Given the description of an element on the screen output the (x, y) to click on. 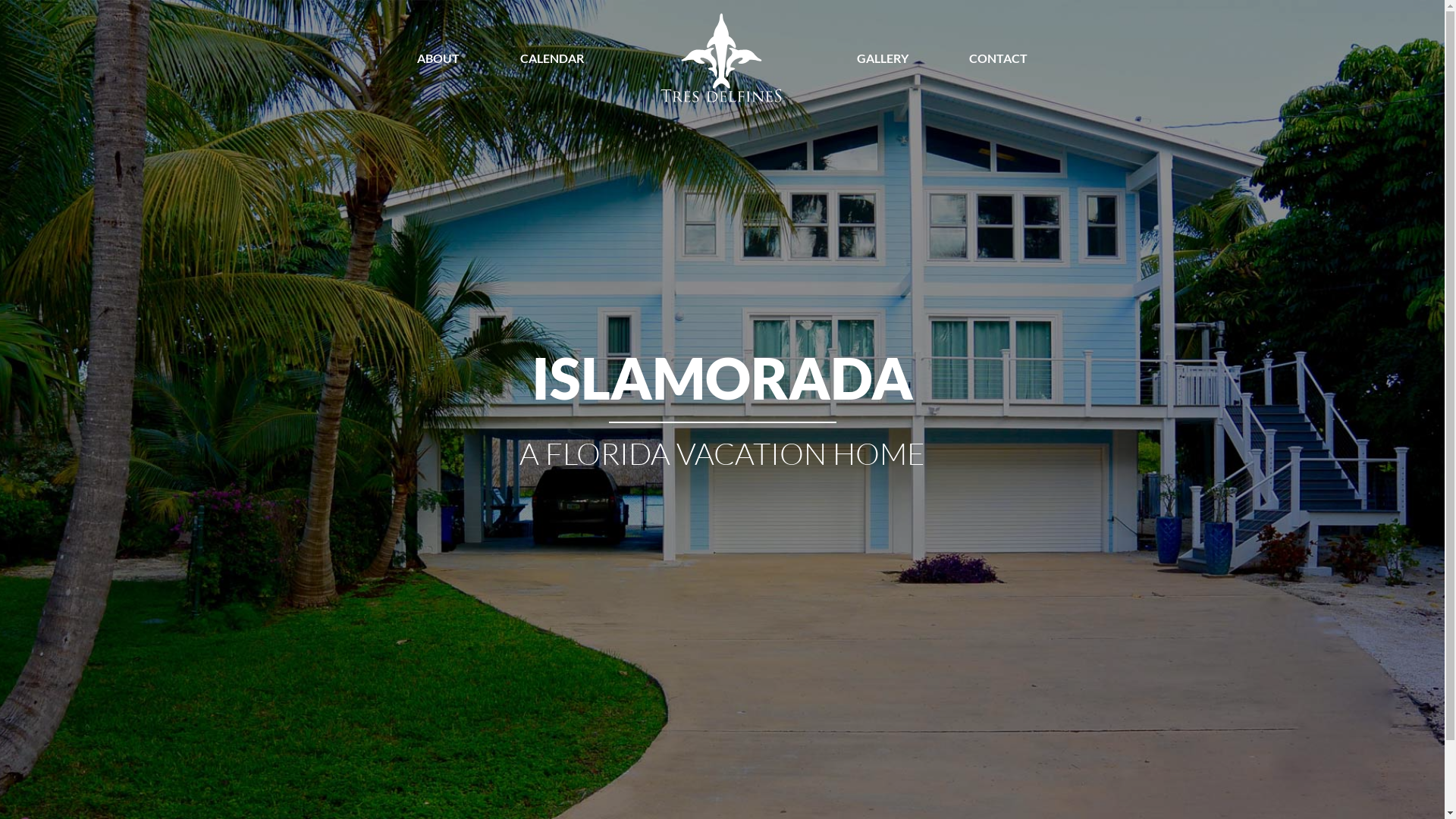
CONTACT Element type: text (997, 57)
GALLERY Element type: text (882, 57)
ABOUT Element type: text (437, 57)
CALENDAR Element type: text (551, 57)
